Given the description of an element on the screen output the (x, y) to click on. 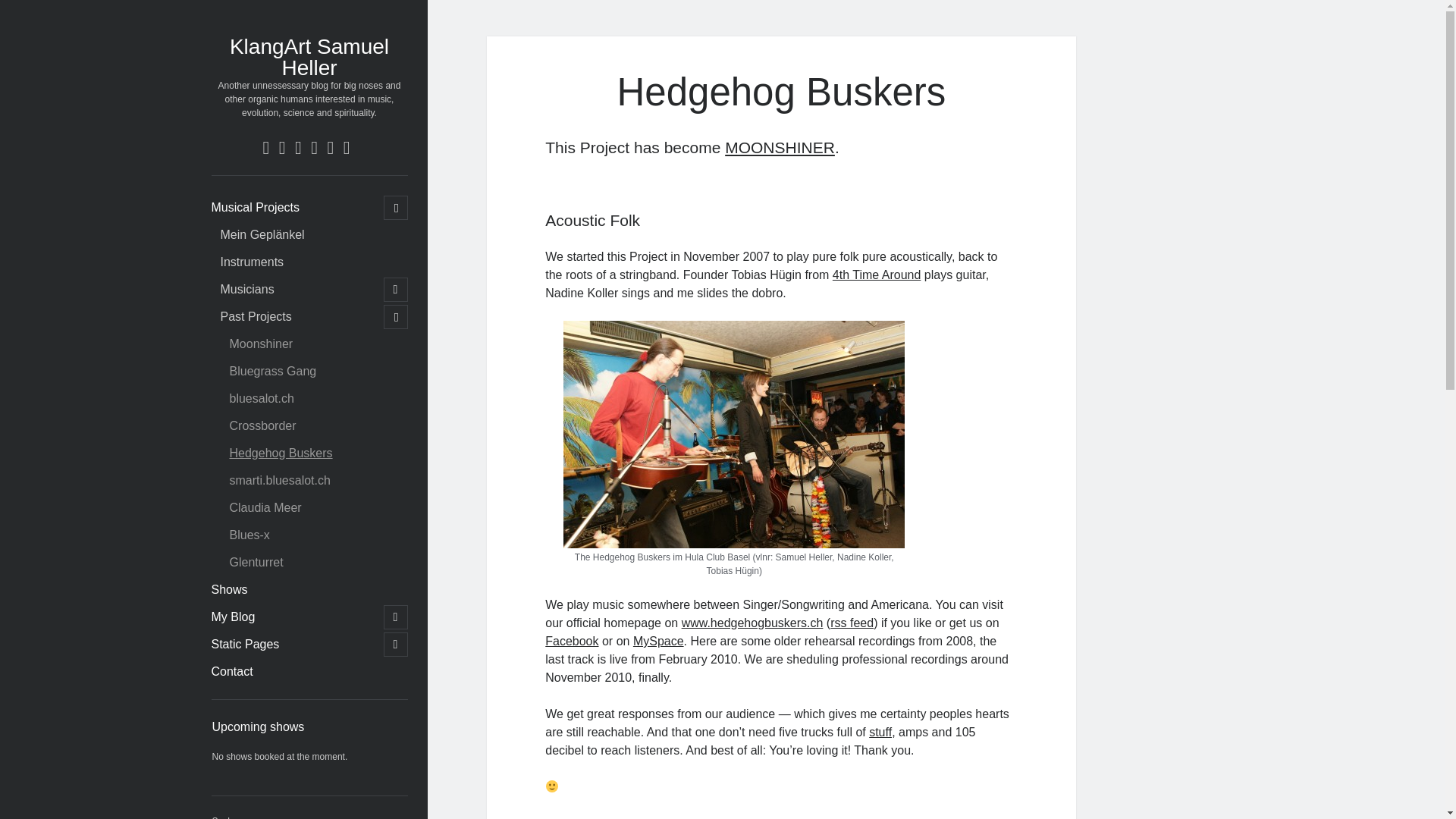
Crossborder (261, 425)
open child menu (395, 617)
Musical Projects (254, 208)
Blues-x (248, 535)
Instruments (251, 262)
Hedgehog Buskers (279, 453)
open child menu (395, 316)
Musicians (246, 289)
Shows (229, 589)
smarti.bluesalot.ch (279, 480)
